Given the description of an element on the screen output the (x, y) to click on. 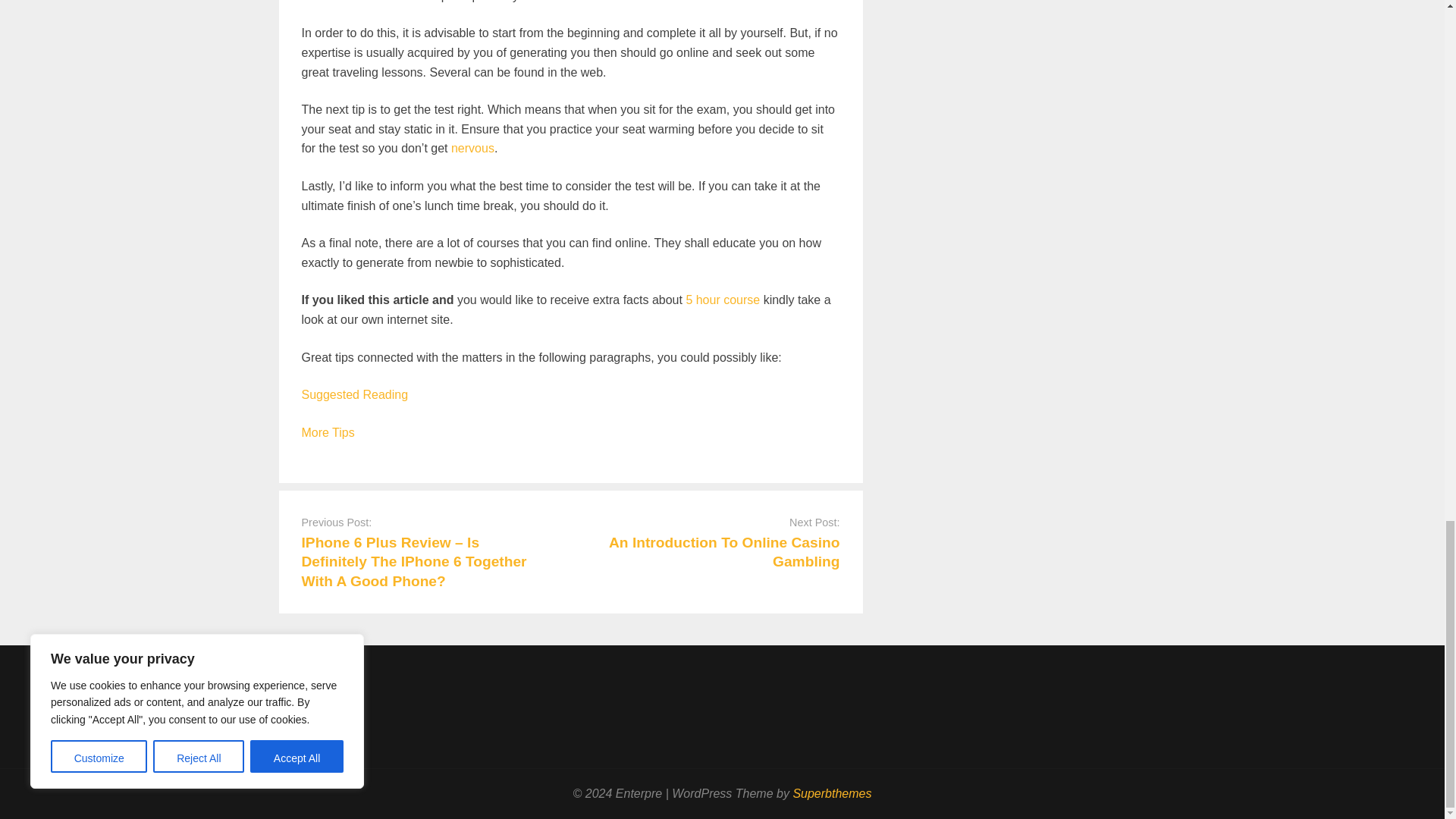
5 hour course (722, 299)
An Introduction To Online Casino Gambling (724, 551)
Suggested Reading (355, 394)
nervous (473, 147)
More Tips (328, 431)
